Given the description of an element on the screen output the (x, y) to click on. 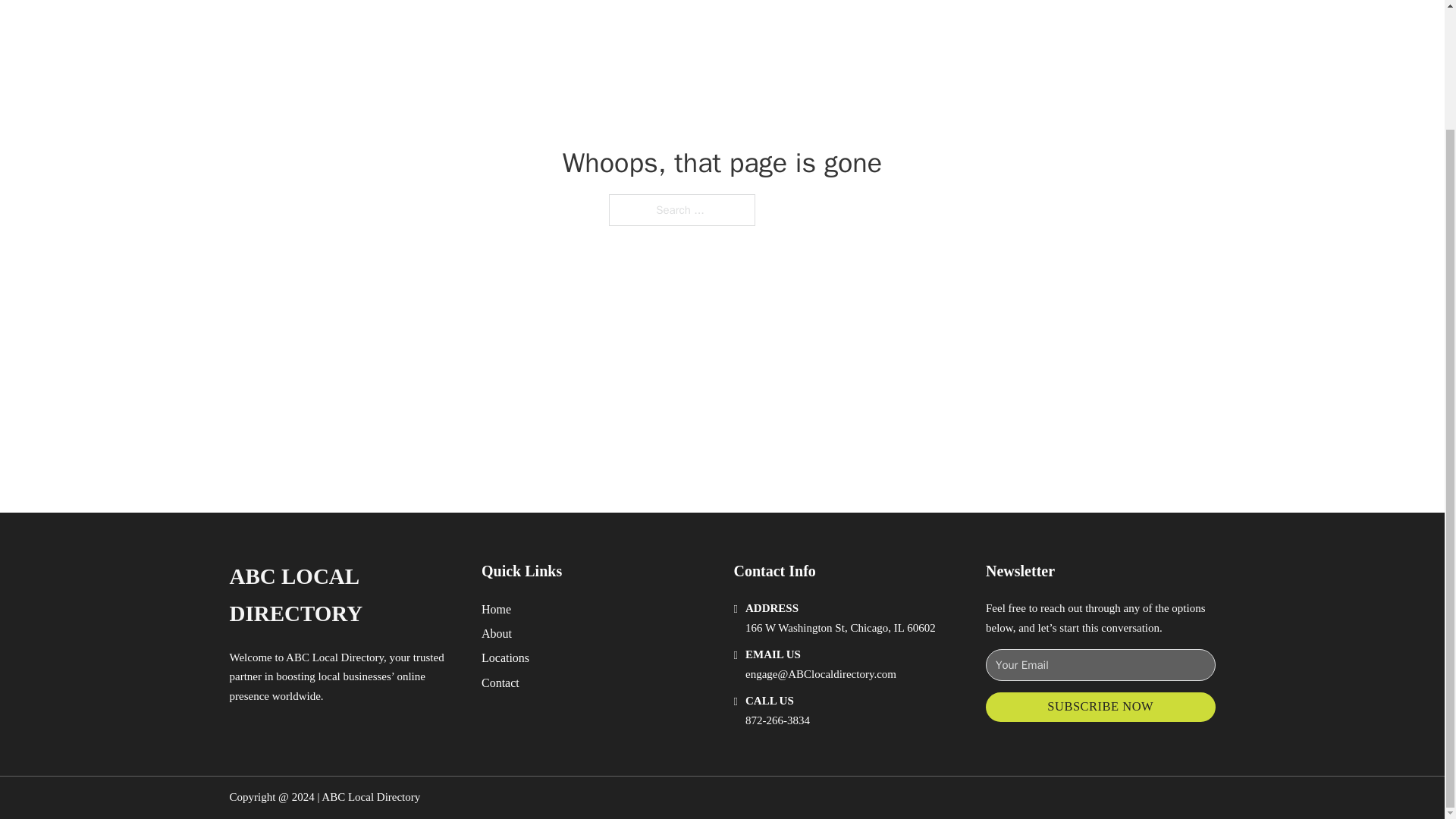
ABC LOCAL DIRECTORY (343, 595)
872-266-3834 (777, 720)
Home (496, 608)
Locations (505, 657)
Contact (500, 682)
About (496, 633)
SUBSCRIBE NOW (1100, 706)
